Given the description of an element on the screen output the (x, y) to click on. 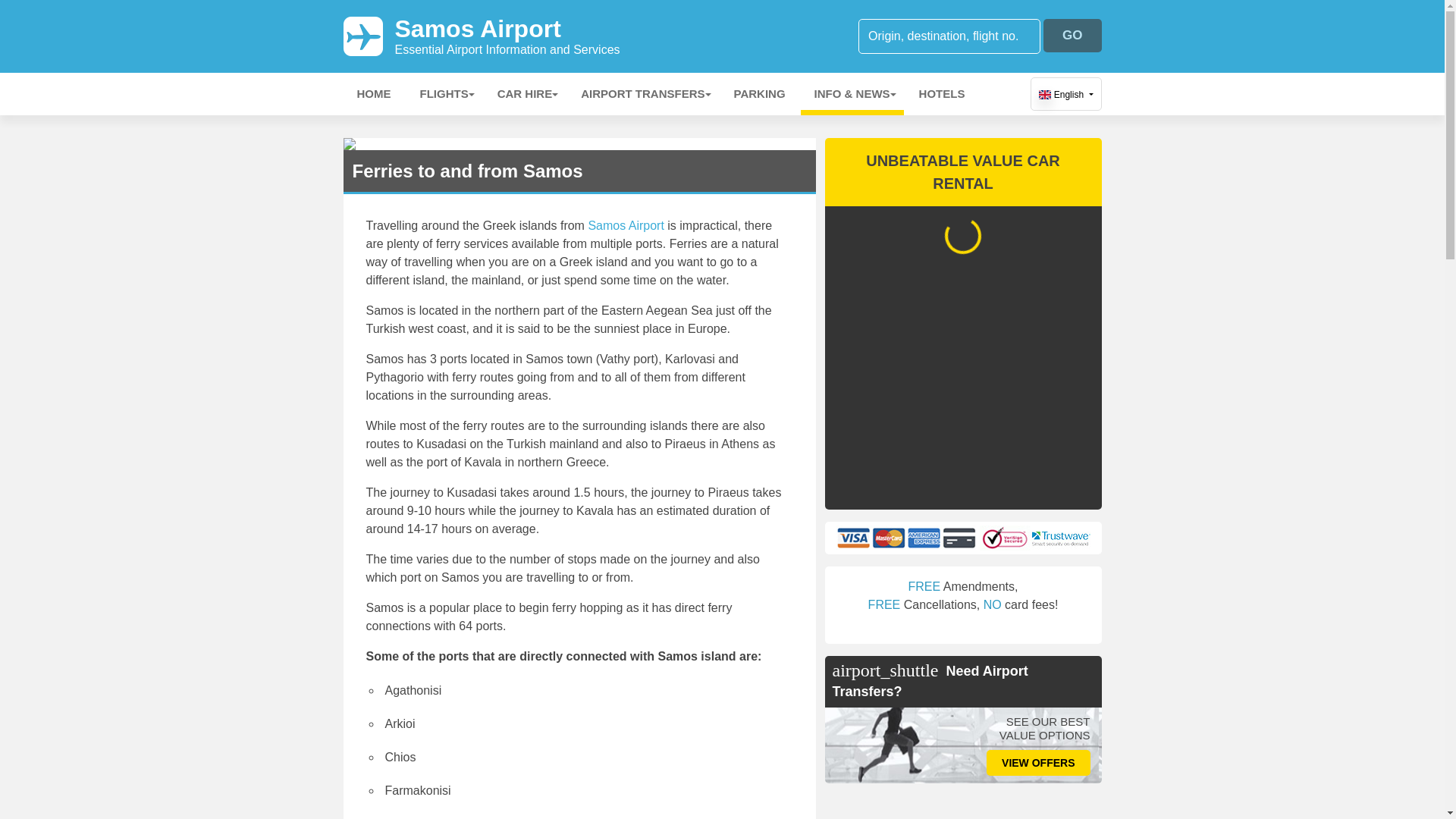
AIRPORT TRANSFERS (642, 93)
samosairport.com (625, 225)
GO (1071, 35)
PARKING (759, 93)
CAR HIRE (507, 36)
FLIGHTS (524, 93)
HOME (443, 93)
